Given the description of an element on the screen output the (x, y) to click on. 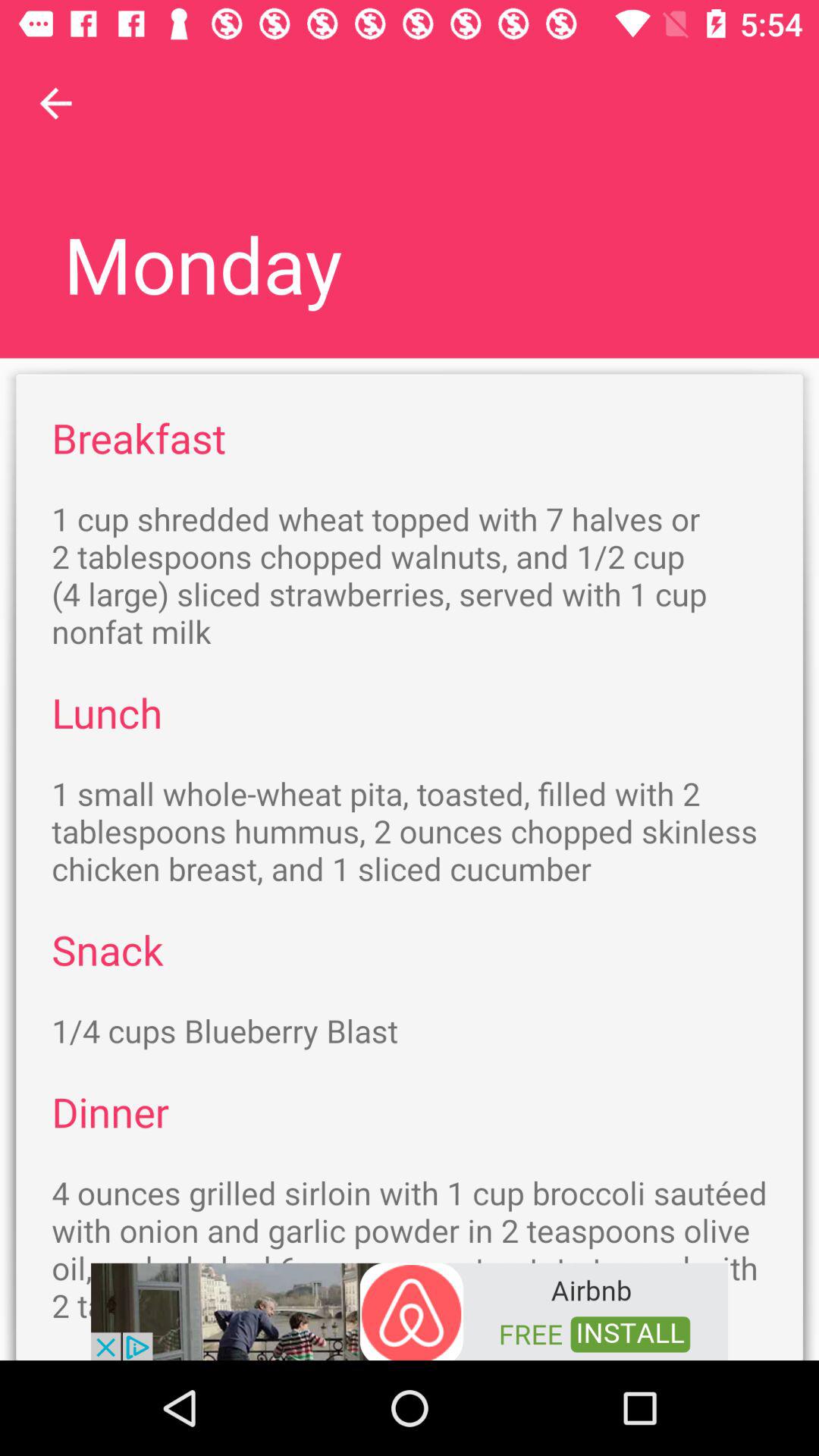
adventisment page (409, 1310)
